Given the description of an element on the screen output the (x, y) to click on. 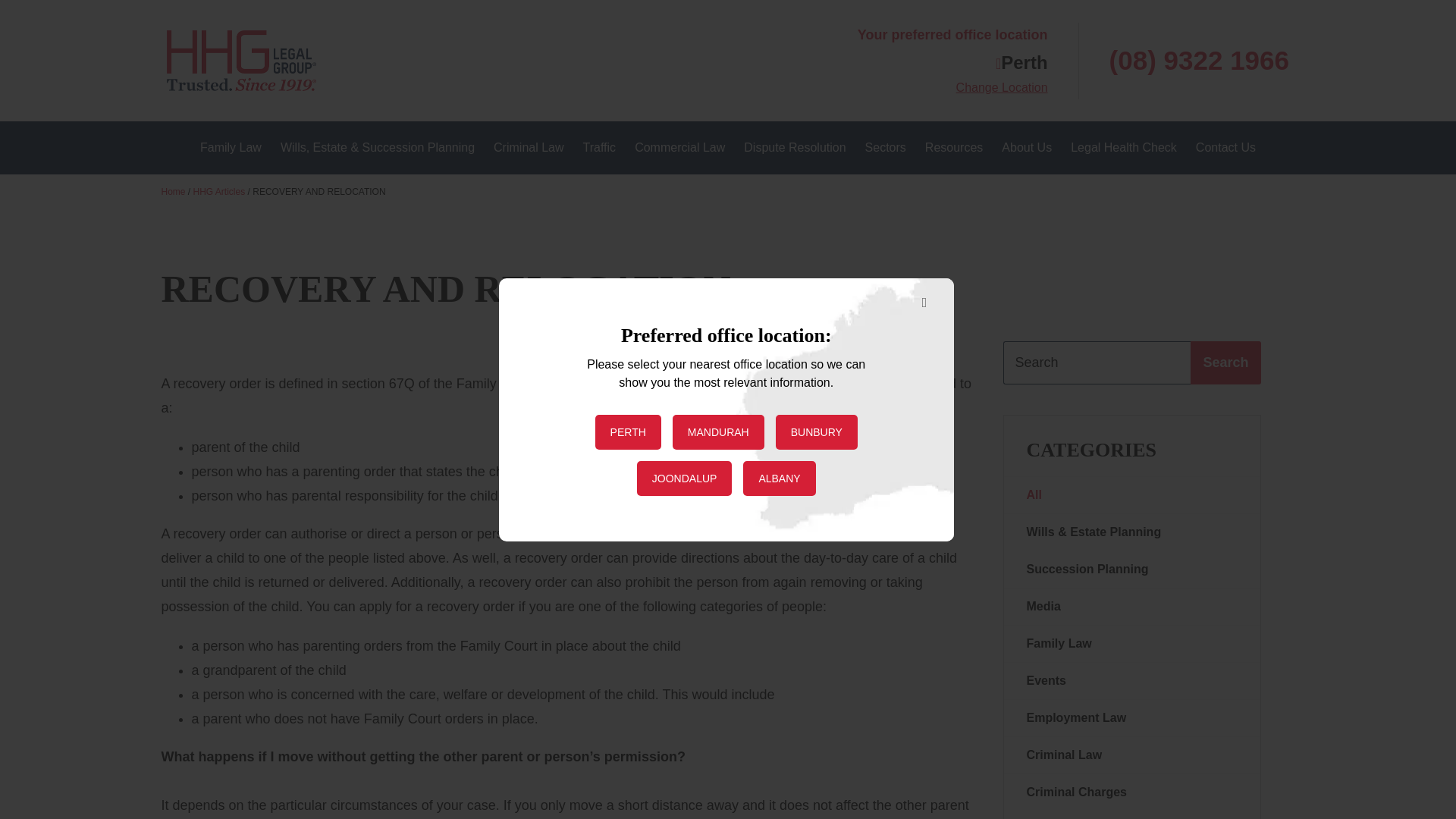
Commercial Law (679, 147)
Close (921, 302)
Family Law (230, 147)
Criminal Law (528, 147)
Traffic (599, 147)
Change Location (1002, 88)
